Given the description of an element on the screen output the (x, y) to click on. 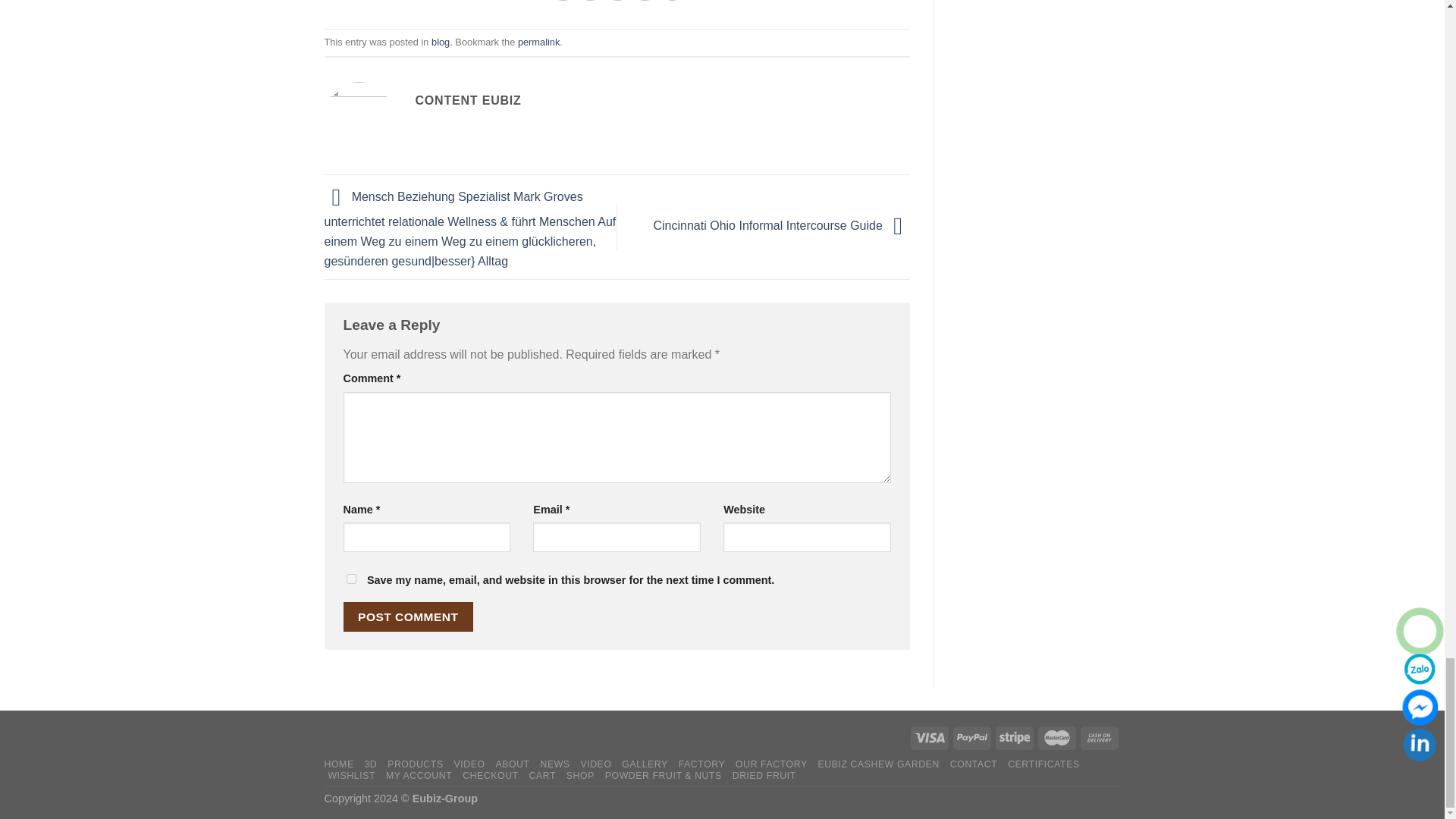
blog (439, 41)
yes (350, 578)
Permalink to Free Only Fans Trial Best OnlyFans Site (538, 41)
Post Comment (407, 616)
Cincinnati Ohio Informal Intercourse Guide (782, 226)
